Given the description of an element on the screen output the (x, y) to click on. 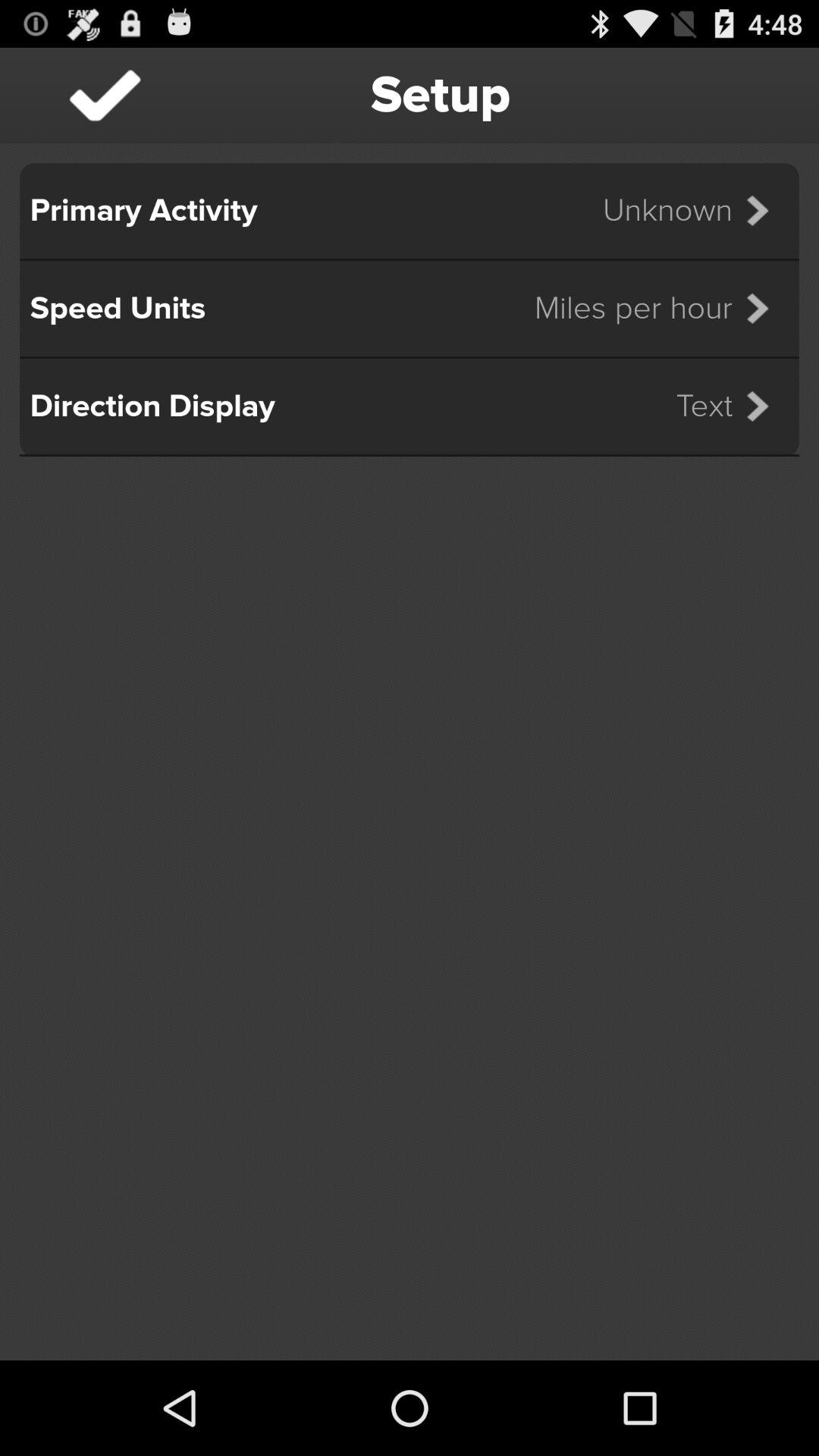
turn on the icon to the right of the direction display item (732, 406)
